Given the description of an element on the screen output the (x, y) to click on. 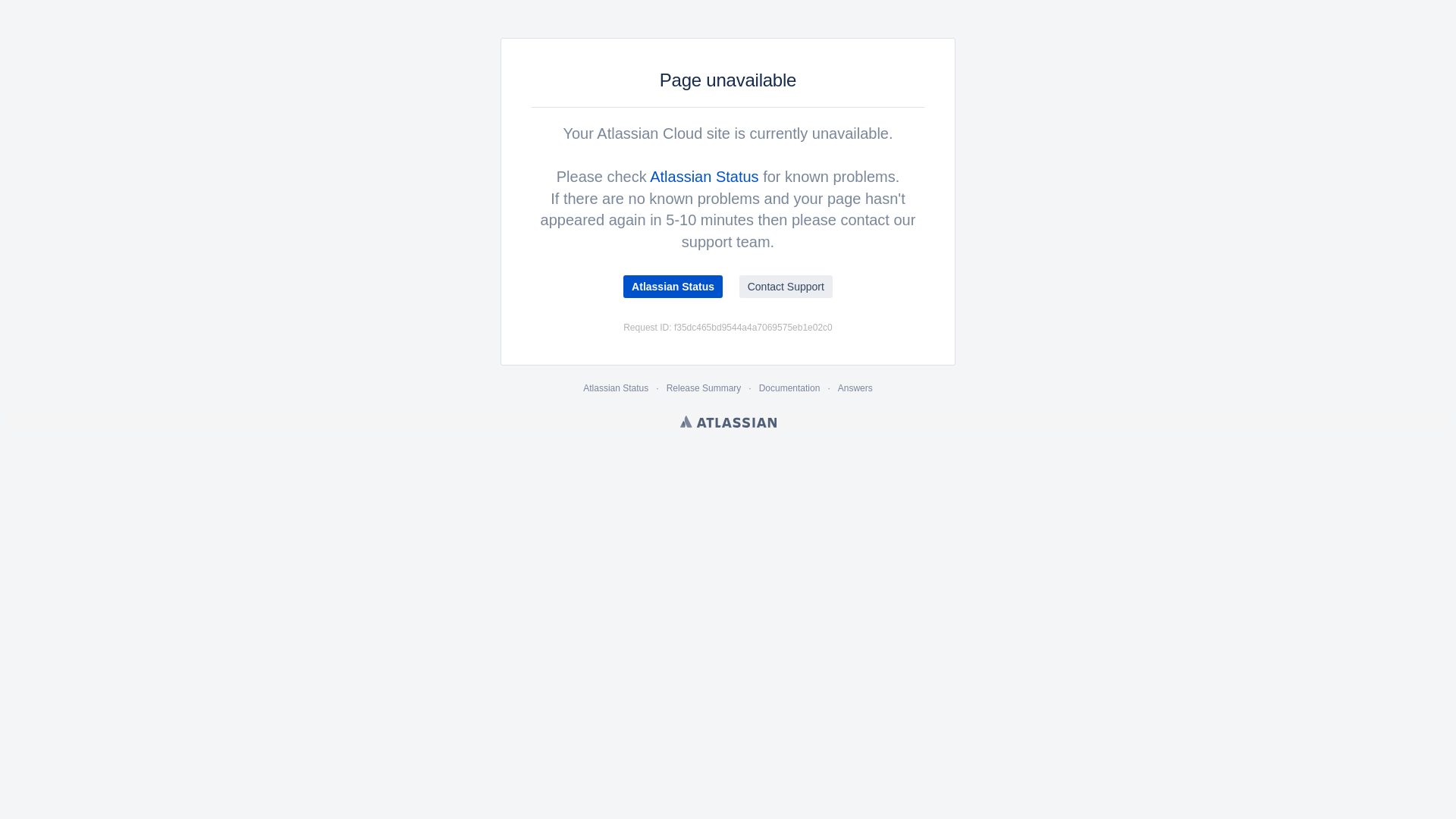
Answers Element type: text (854, 387)
Atlassian Status Element type: text (615, 387)
Contact Support Element type: text (785, 286)
Atlassian Status Element type: text (703, 176)
Release Summary Element type: text (703, 387)
Documentation Element type: text (789, 387)
Atlassian Status Element type: text (672, 286)
Atlassian Element type: text (727, 421)
